Given the description of an element on the screen output the (x, y) to click on. 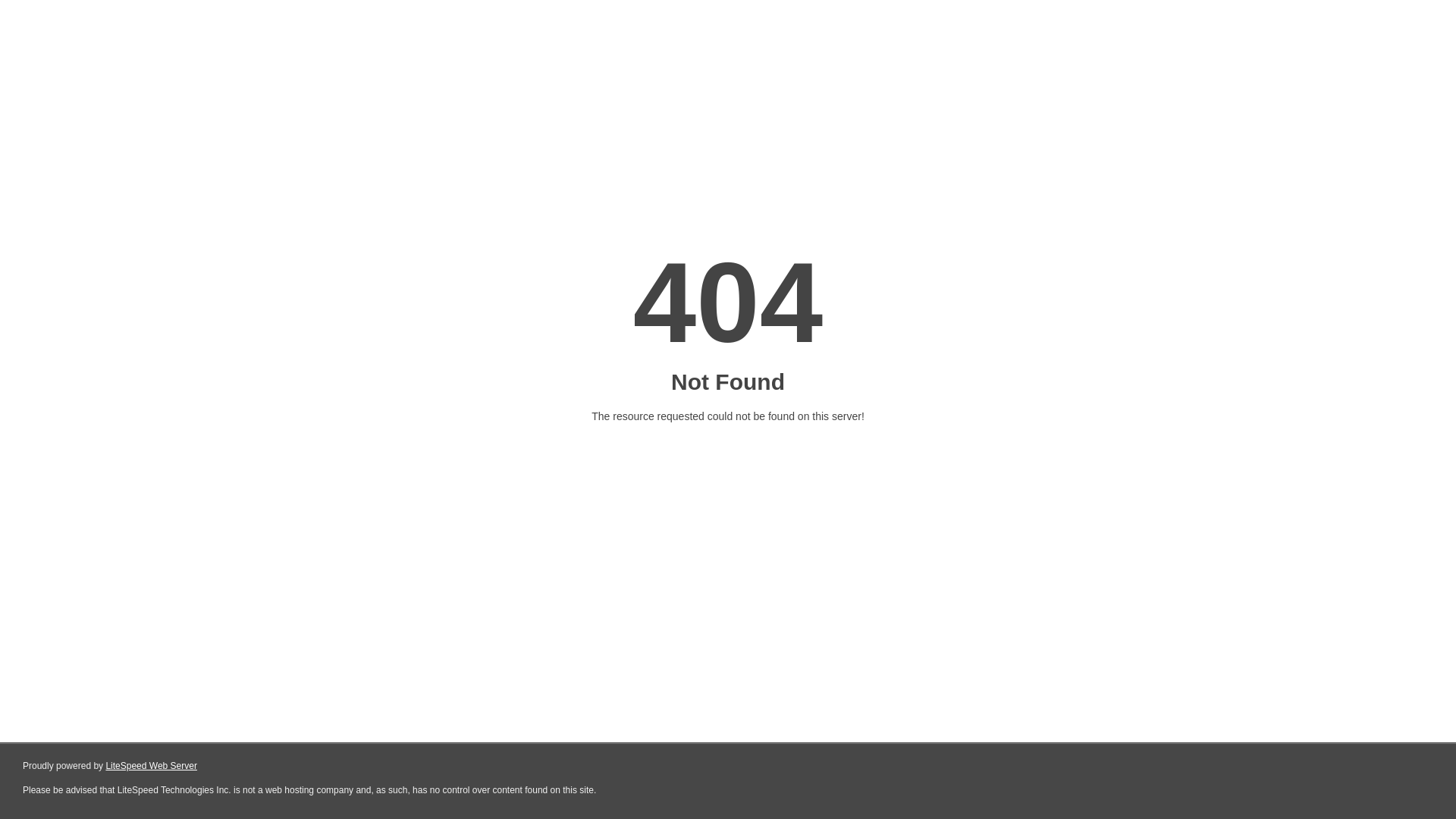
LiteSpeed Web Server Element type: text (151, 765)
